Given the description of an element on the screen output the (x, y) to click on. 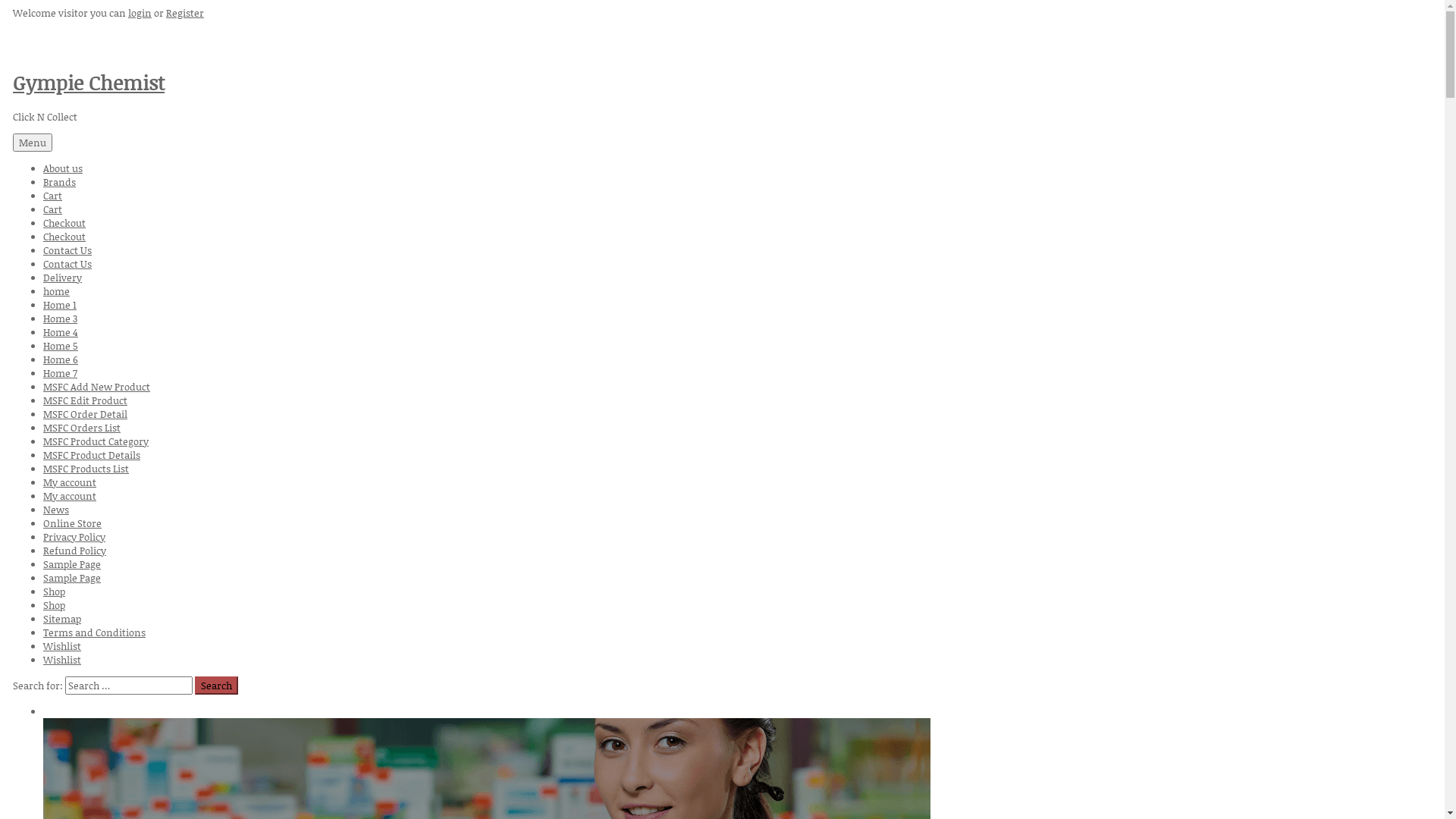
Register Element type: text (184, 12)
Shop Element type: text (54, 604)
MSFC Order Detail Element type: text (85, 413)
Search Element type: text (216, 685)
Wishlist Element type: text (62, 645)
Sample Page Element type: text (71, 577)
Home 4 Element type: text (60, 331)
Shop Element type: text (54, 591)
News Element type: text (56, 509)
MSFC Product Details Element type: text (91, 454)
Home 5 Element type: text (60, 345)
Terms and Conditions Element type: text (94, 632)
Cart Element type: text (52, 195)
MSFC Orders List Element type: text (81, 427)
Privacy Policy Element type: text (74, 536)
Home 1 Element type: text (59, 304)
Cart Element type: text (52, 209)
My account Element type: text (69, 495)
Home 6 Element type: text (60, 359)
MSFC Products List Element type: text (85, 468)
Home 3 Element type: text (60, 318)
Contact Us Element type: text (67, 263)
Refund Policy Element type: text (74, 550)
MSFC Edit Product Element type: text (85, 400)
Sitemap Element type: text (62, 618)
Wishlist Element type: text (62, 659)
Menu Element type: text (32, 142)
Delivery Element type: text (62, 277)
My account Element type: text (69, 482)
login Element type: text (139, 12)
Checkout Element type: text (64, 222)
Home 7 Element type: text (60, 372)
Gympie Chemist Element type: text (88, 82)
Checkout Element type: text (64, 236)
About us Element type: text (62, 168)
Online Store Element type: text (72, 523)
home Element type: text (56, 291)
MSFC Product Category Element type: text (95, 441)
Brands Element type: text (59, 181)
Contact Us Element type: text (67, 250)
MSFC Add New Product Element type: text (96, 386)
Sample Page Element type: text (71, 564)
